Given the description of an element on the screen output the (x, y) to click on. 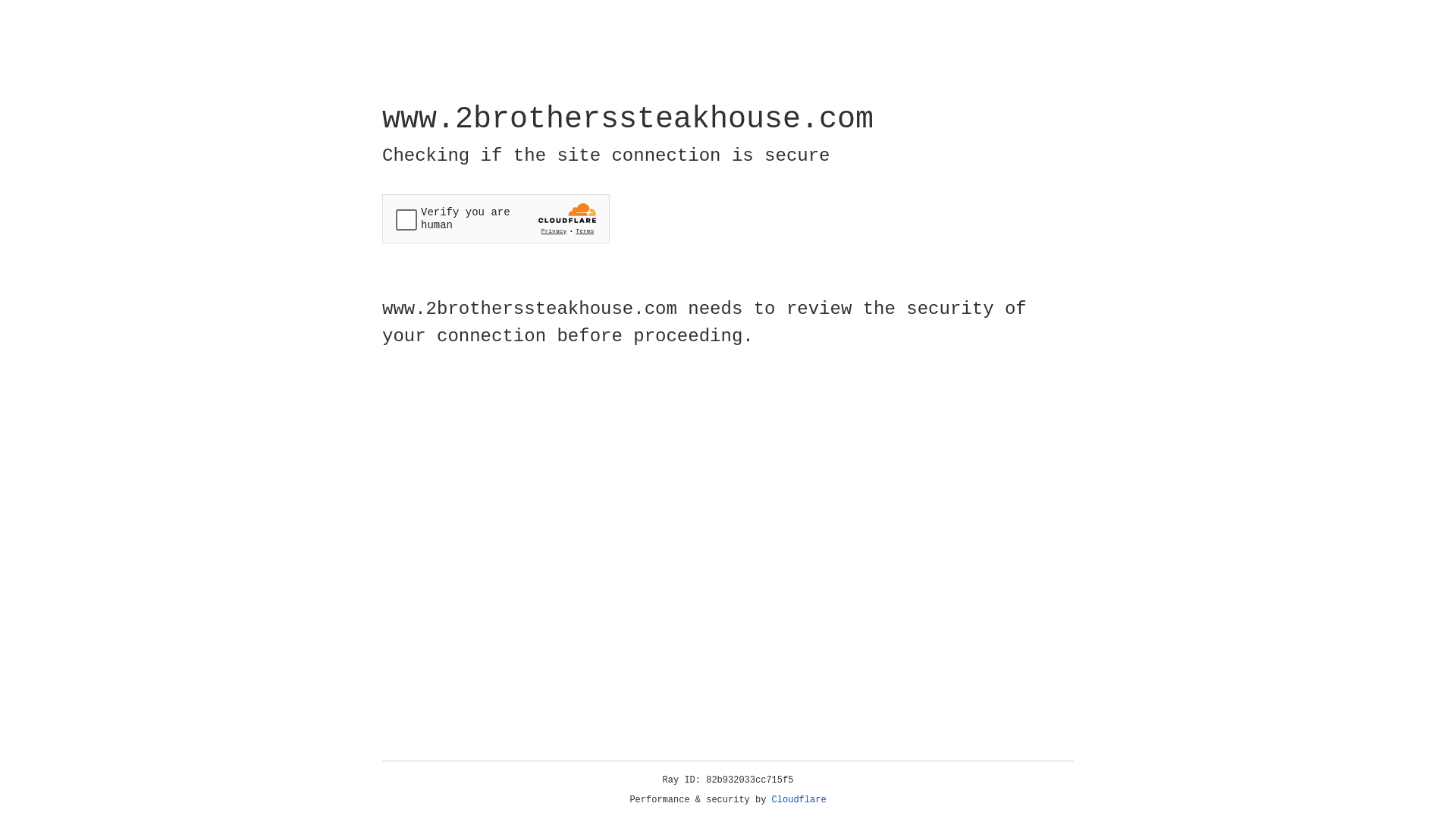
Cloudflare Element type: text (798, 799)
Widget containing a Cloudflare security challenge Element type: hover (495, 218)
